Given the description of an element on the screen output the (x, y) to click on. 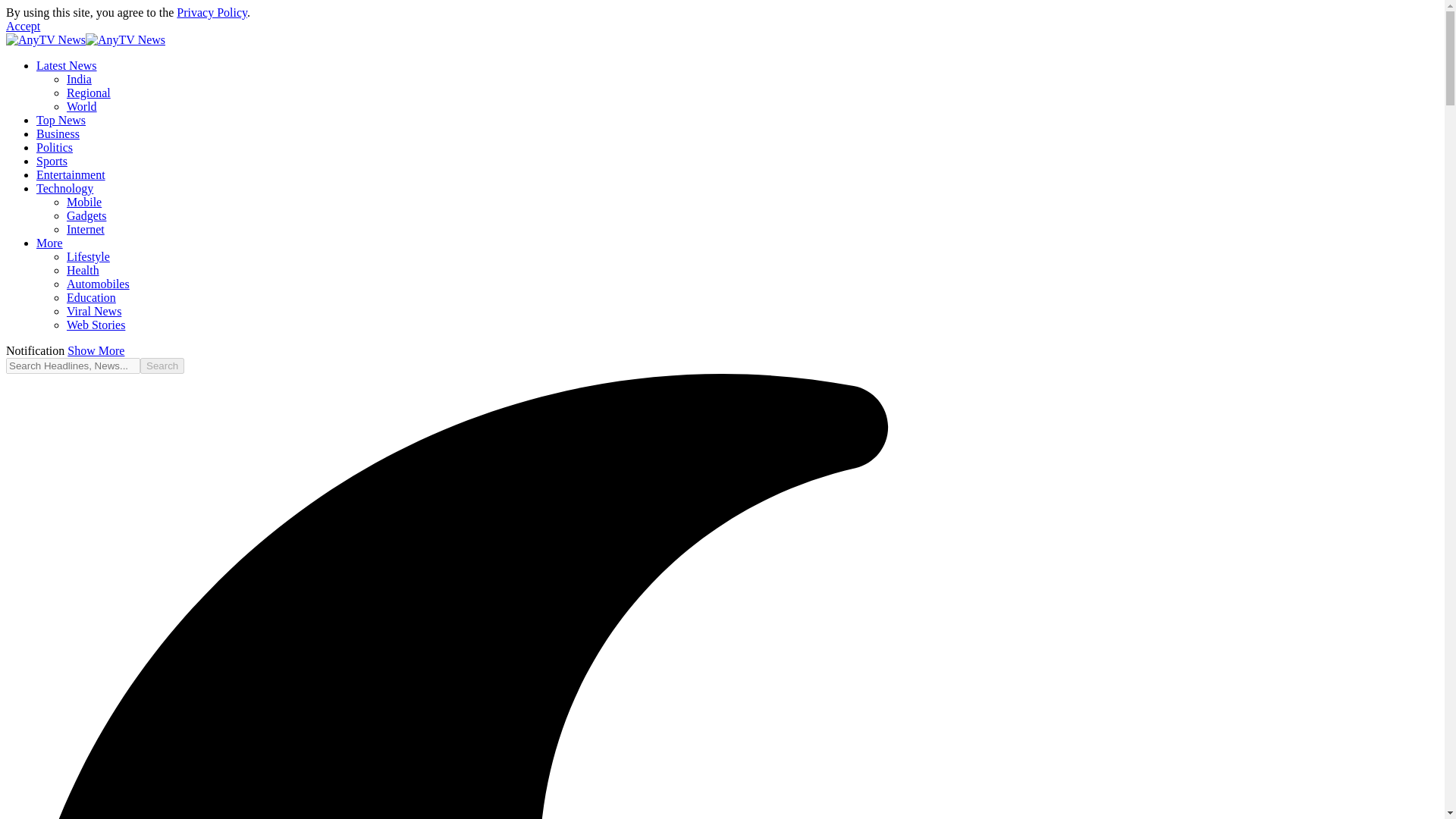
Latest News (66, 65)
Education (91, 297)
Viral News (93, 310)
Show More (94, 350)
More (49, 242)
Lifestyle (88, 256)
Internet (85, 228)
Search (161, 365)
Privacy Policy (211, 11)
Politics (54, 146)
Gadgets (86, 215)
Search (161, 365)
Business (58, 133)
Mobile (83, 201)
Entertainment (70, 174)
